Given the description of an element on the screen output the (x, y) to click on. 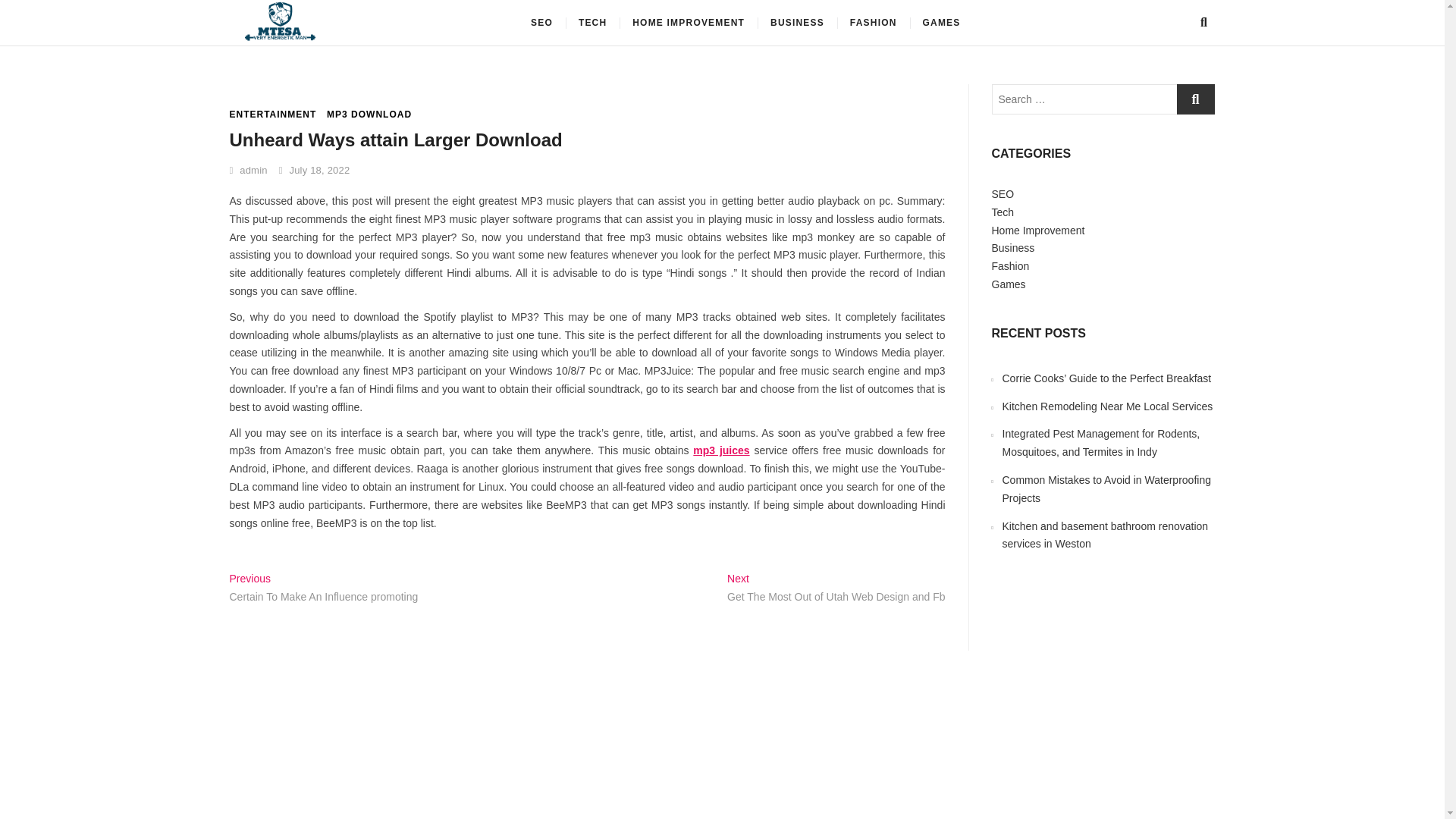
FASHION (873, 22)
Mtesa (374, 27)
Kitchen Remodeling Near Me Local Services (1107, 406)
SEO (541, 22)
GAMES (941, 22)
Kitchen and basement bathroom renovation services in Weston (1105, 535)
admin (247, 170)
Common Mistakes to Avoid in Waterproofing Projects (1107, 489)
